Given the description of an element on the screen output the (x, y) to click on. 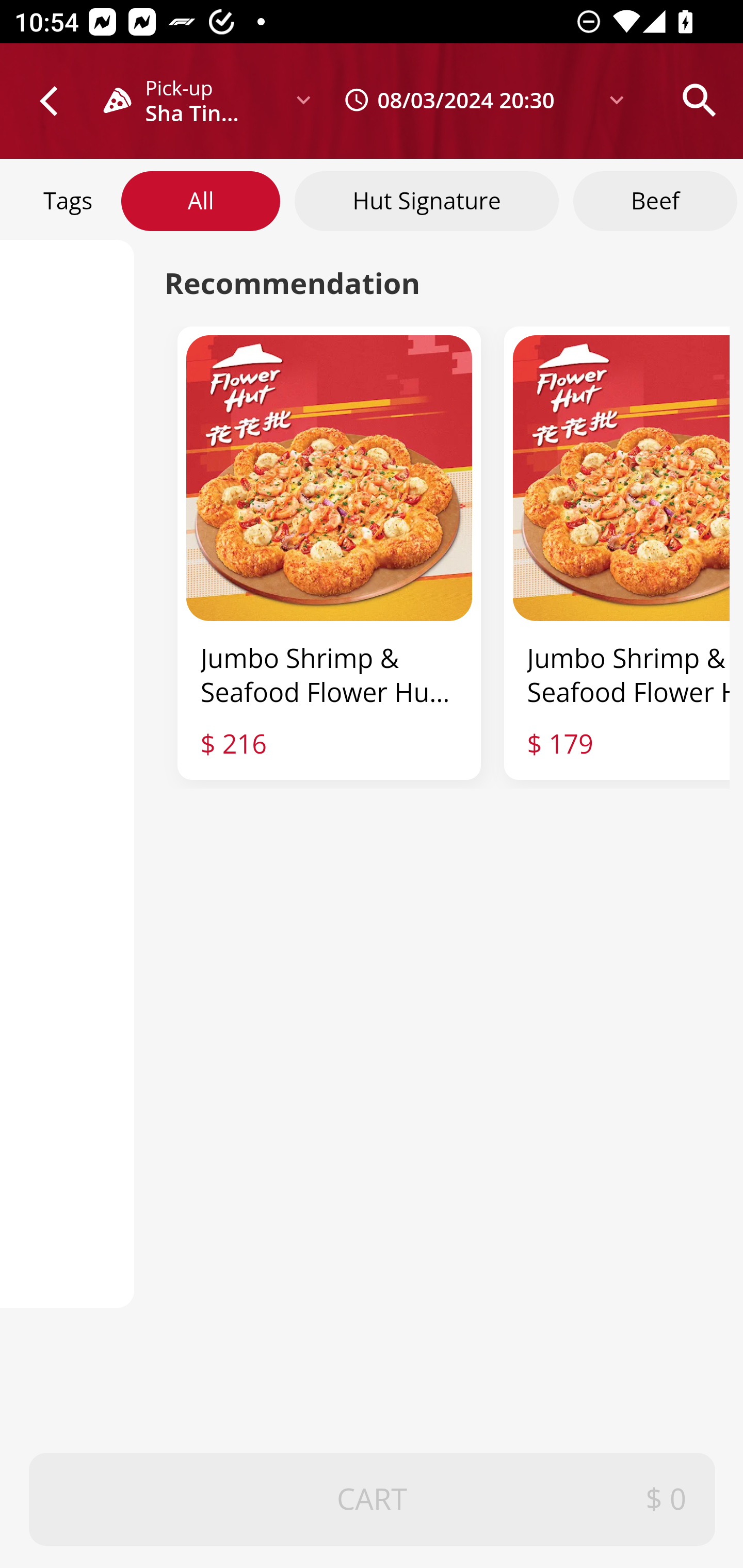
Pick-up Sha Tin Centre, Sha Tin expand_more (215, 100)
arrow_back_ios (58, 100)
search (699, 99)
schedule 08/03/2024 20:30 expand_more (479, 100)
All (200, 200)
Hut Signature (426, 200)
Beef (655, 200)
CART $ 0 (372, 1499)
